Given the description of an element on the screen output the (x, y) to click on. 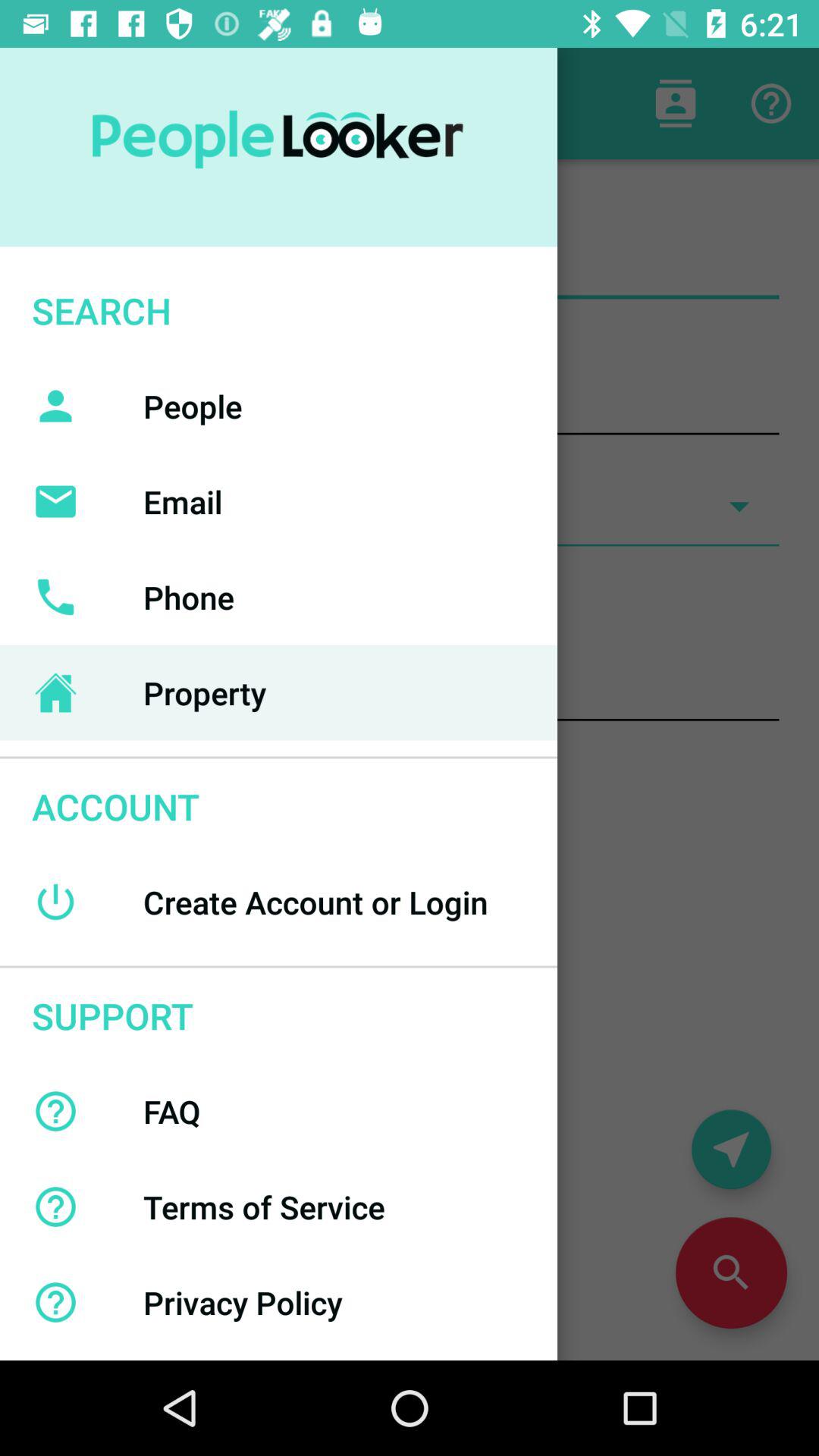
select the text which is above the search (278, 146)
